Given the description of an element on the screen output the (x, y) to click on. 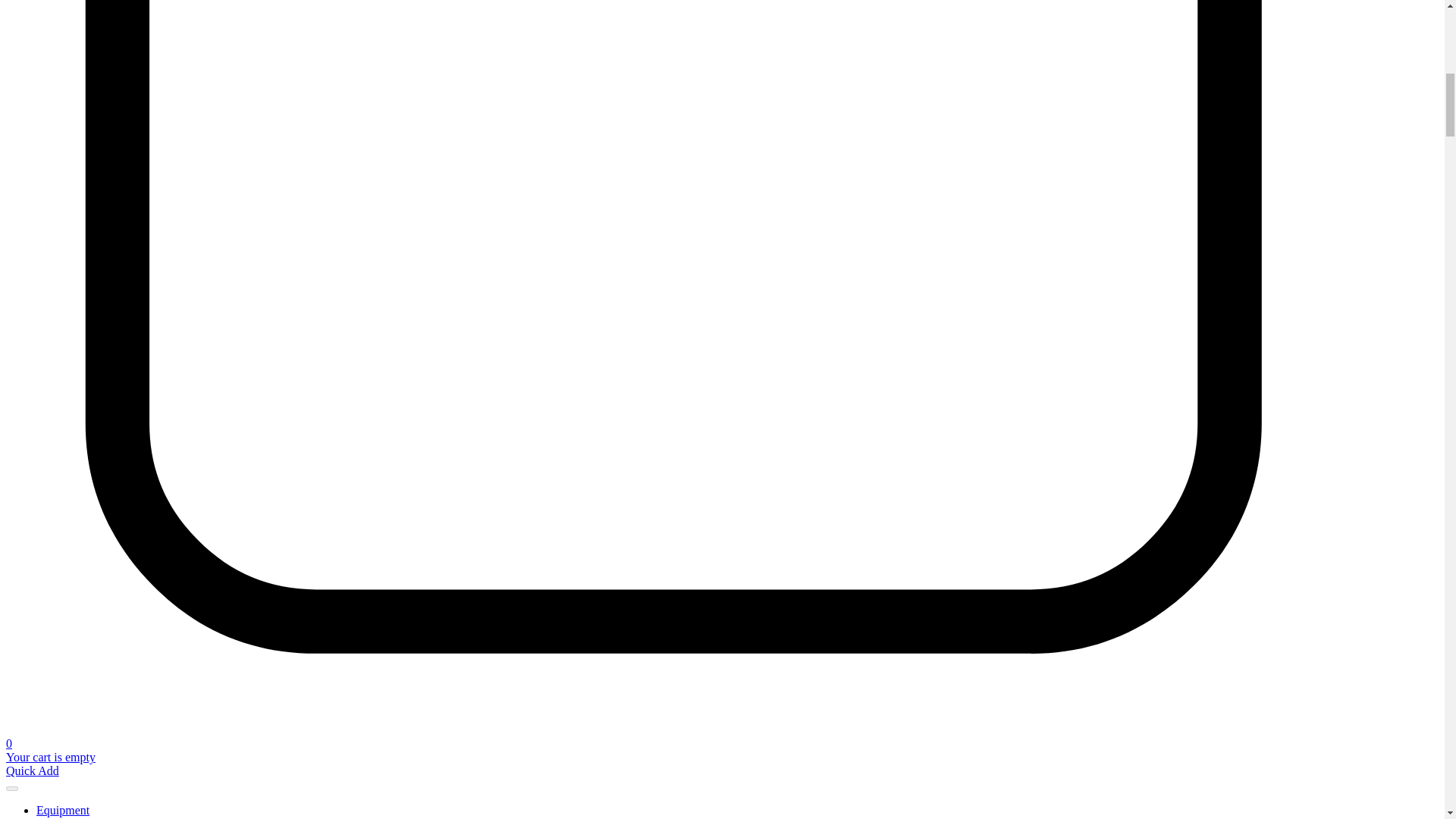
Quick Add (32, 770)
Equipment (62, 809)
Quick Order (32, 770)
Your cart is empty (50, 757)
Beverage Equipment (148, 818)
